Given the description of an element on the screen output the (x, y) to click on. 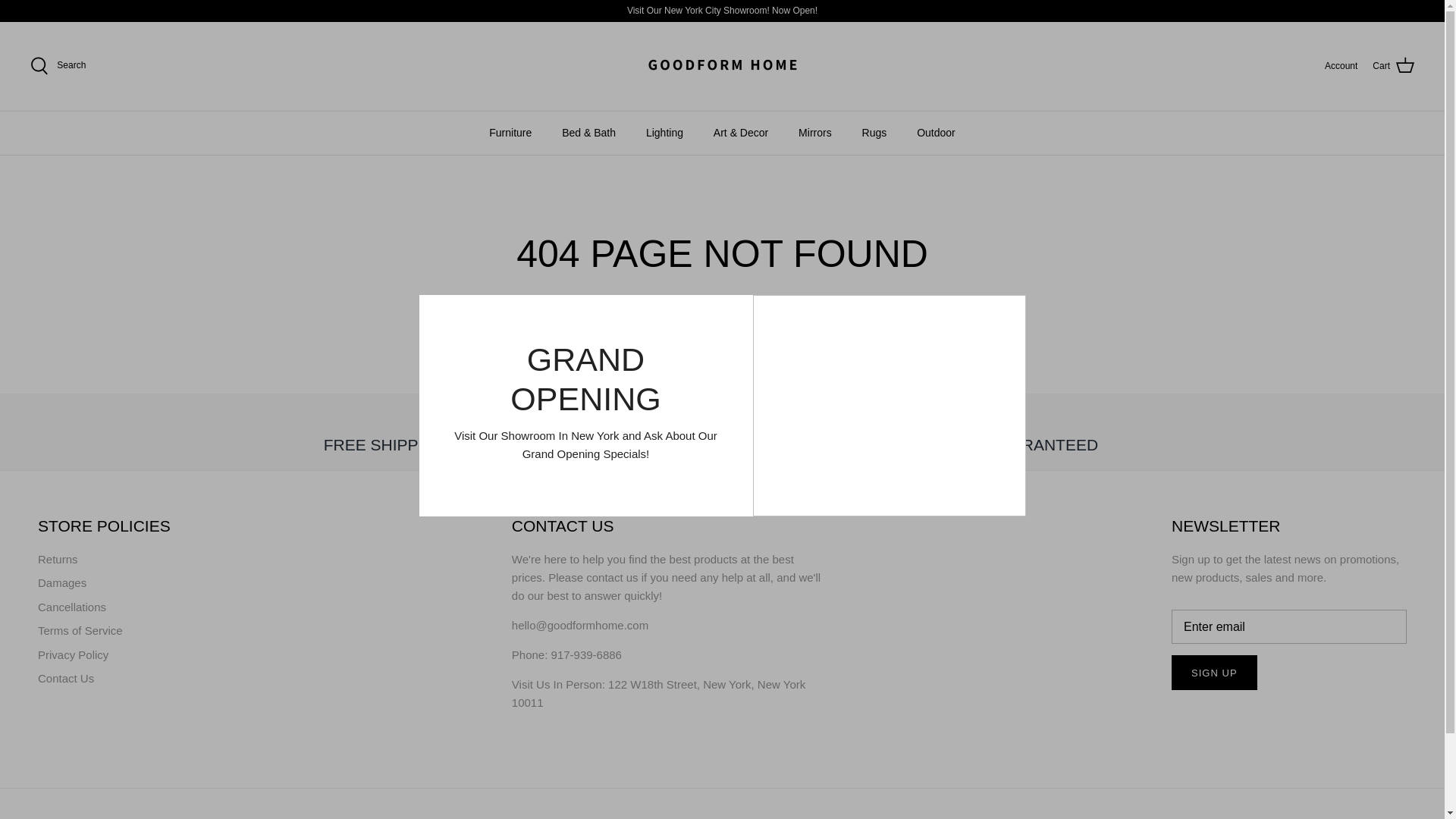
Cart (1393, 66)
Visit Our New York City Showroom! Now Open! (721, 11)
Search (57, 65)
tel:631-270-4560 (586, 654)
Account (1340, 65)
Label (993, 418)
Furniture (510, 132)
Goodform Home (721, 65)
